Given the description of an element on the screen output the (x, y) to click on. 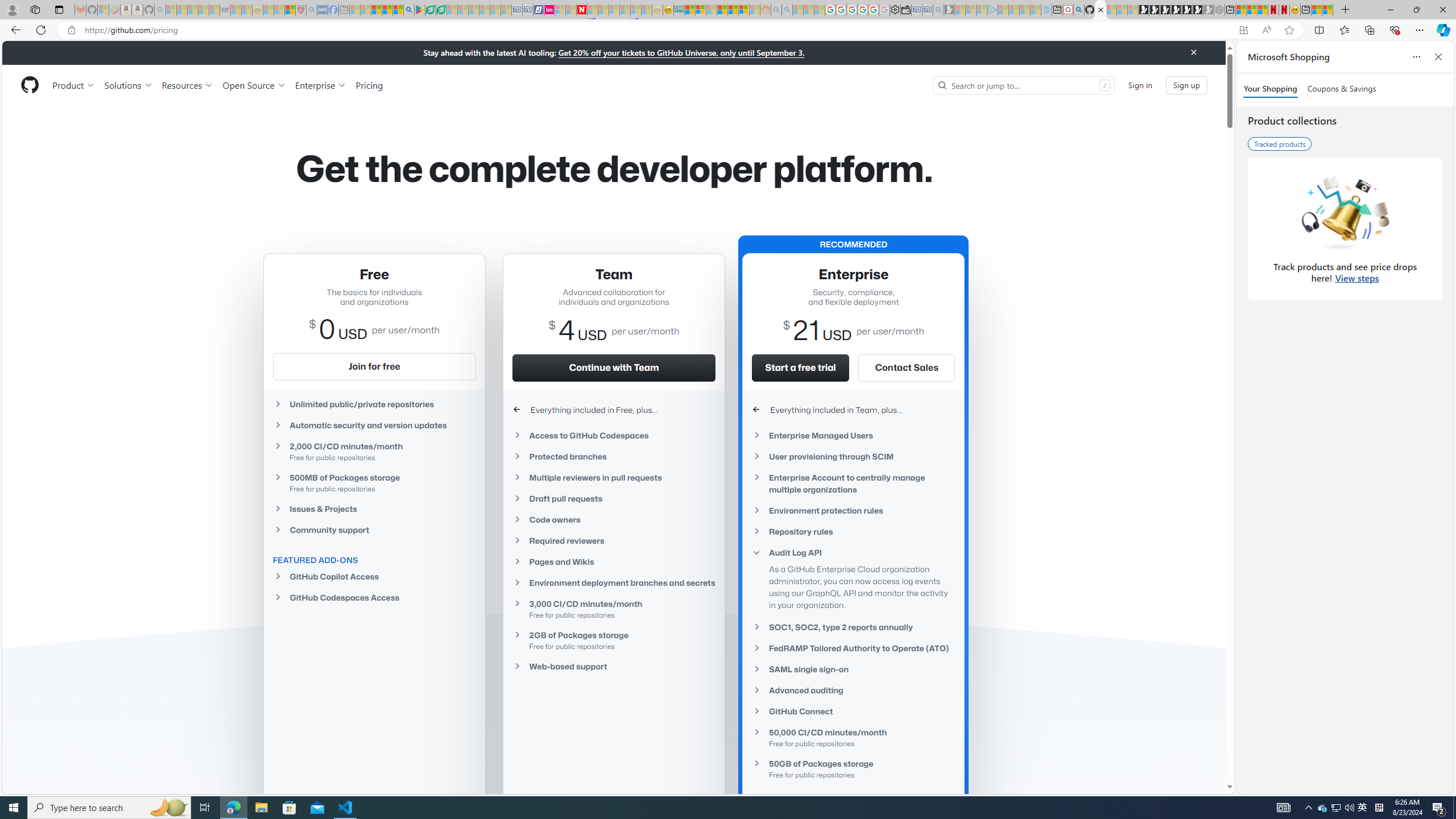
2,000 CI/CD minutes/month Free for public repositories (374, 451)
Automatic security and version updates (374, 425)
Everything included in Team, plus... (853, 409)
Issues & Projects (374, 508)
Terms of Use Agreement (430, 9)
Open Source (254, 84)
50,000 CI/CD minutes/monthFree for public repositories (853, 737)
50GB of Packages storage Free for public repositories (853, 768)
